Given the description of an element on the screen output the (x, y) to click on. 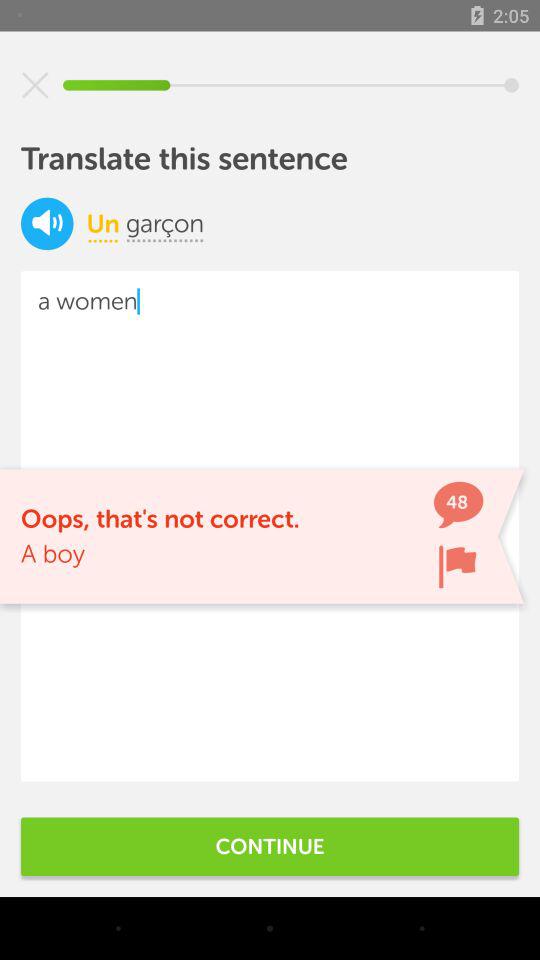
close the translation screen (35, 85)
